Given the description of an element on the screen output the (x, y) to click on. 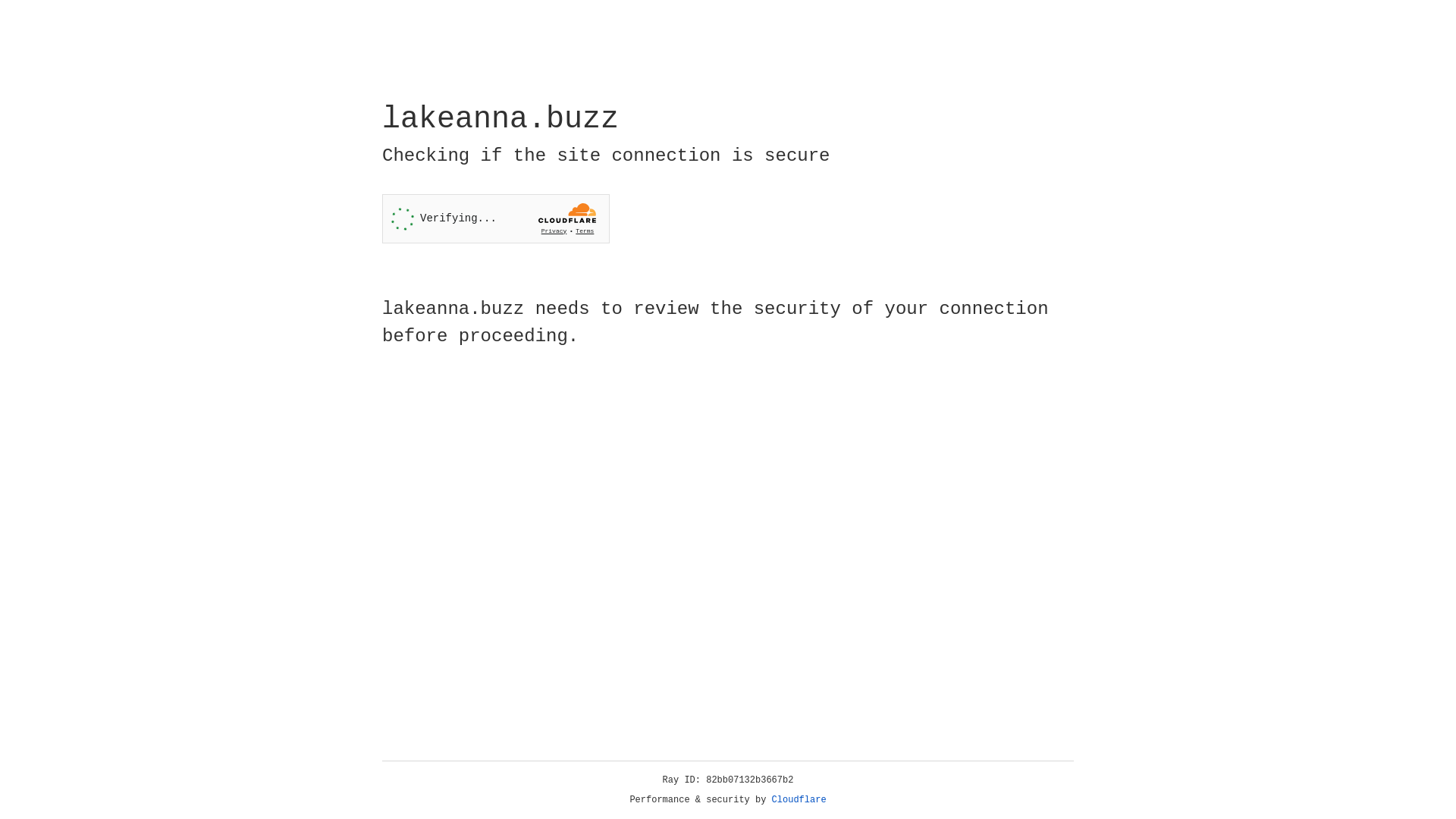
Cloudflare Element type: text (798, 799)
Widget containing a Cloudflare security challenge Element type: hover (495, 218)
